Given the description of an element on the screen output the (x, y) to click on. 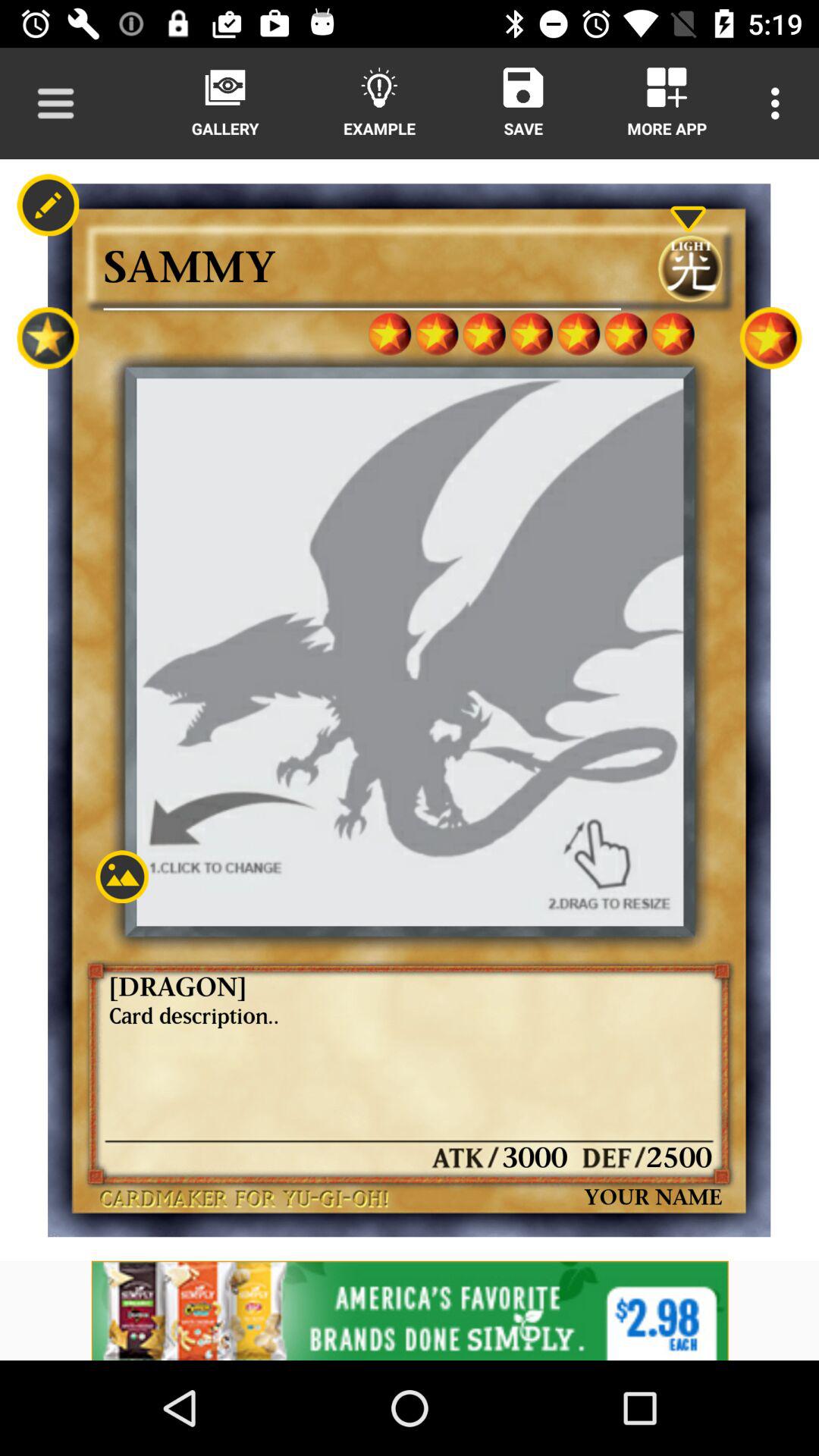
text writing button (48, 205)
